Given the description of an element on the screen output the (x, y) to click on. 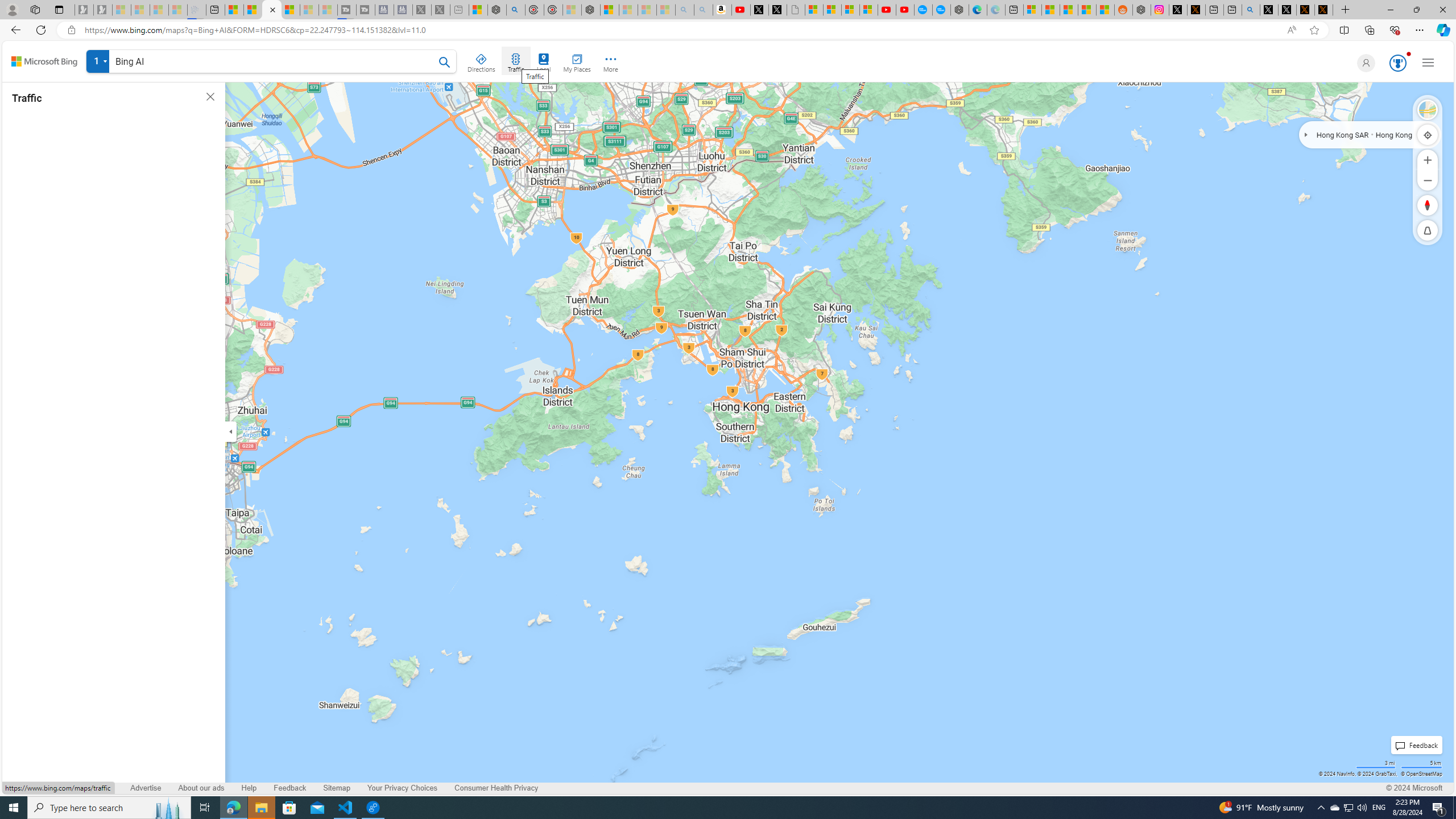
Directions (481, 60)
YouTube Kids - An App Created for Kids to Explore Content (904, 9)
Privacy and Cookies (44, 787)
Zoom In (1427, 159)
Traffic (514, 60)
Streaming Coverage | T3 - Sleeping (347, 9)
X Privacy Policy (1324, 9)
Settings and quick links (1428, 62)
Reset to Default Rotation (1427, 204)
